Given the description of an element on the screen output the (x, y) to click on. 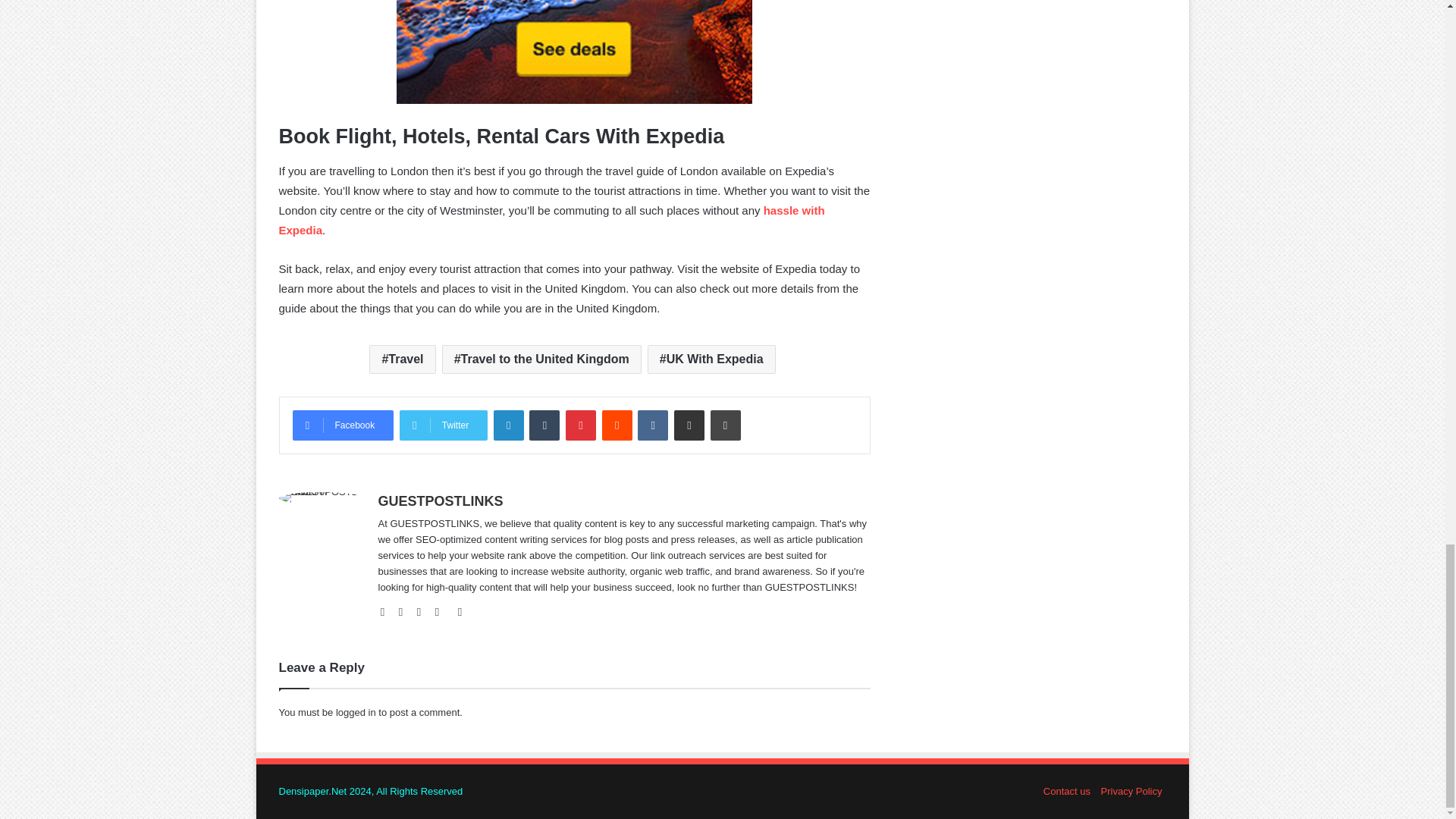
LinkedIn (440, 610)
Pinterest (580, 425)
Reddit (616, 425)
Facebook (343, 425)
Travel (402, 358)
Twitter (422, 610)
Pinterest (458, 610)
Travel to the United Kingdom (542, 358)
VKontakte (652, 425)
Pinterest (580, 425)
Print (725, 425)
GUESTPOSTLINKS (439, 500)
hassle with Expedia (552, 219)
logged in (355, 712)
LinkedIn (508, 425)
